Given the description of an element on the screen output the (x, y) to click on. 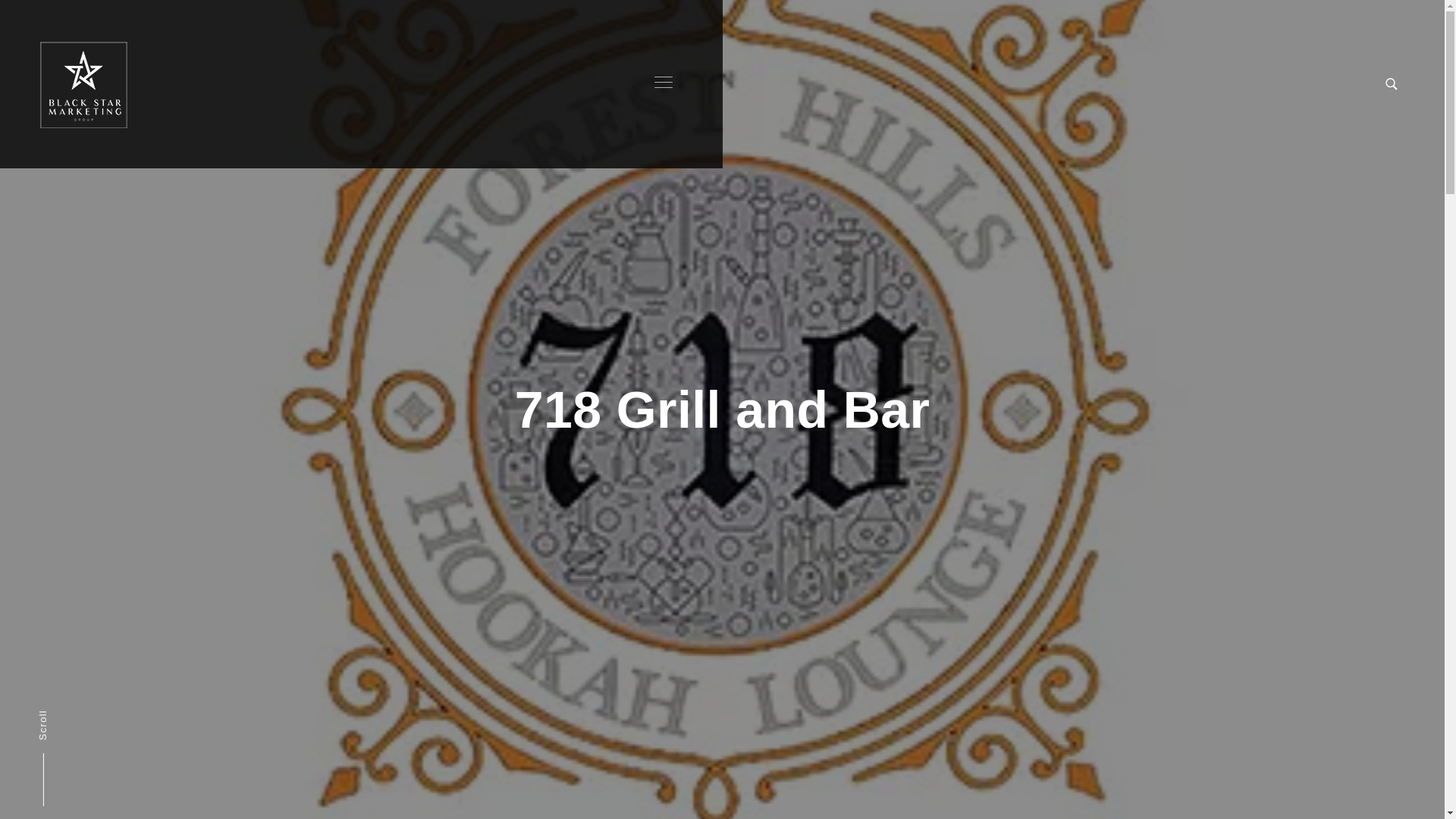
Scroll (65, 751)
